Given the description of an element on the screen output the (x, y) to click on. 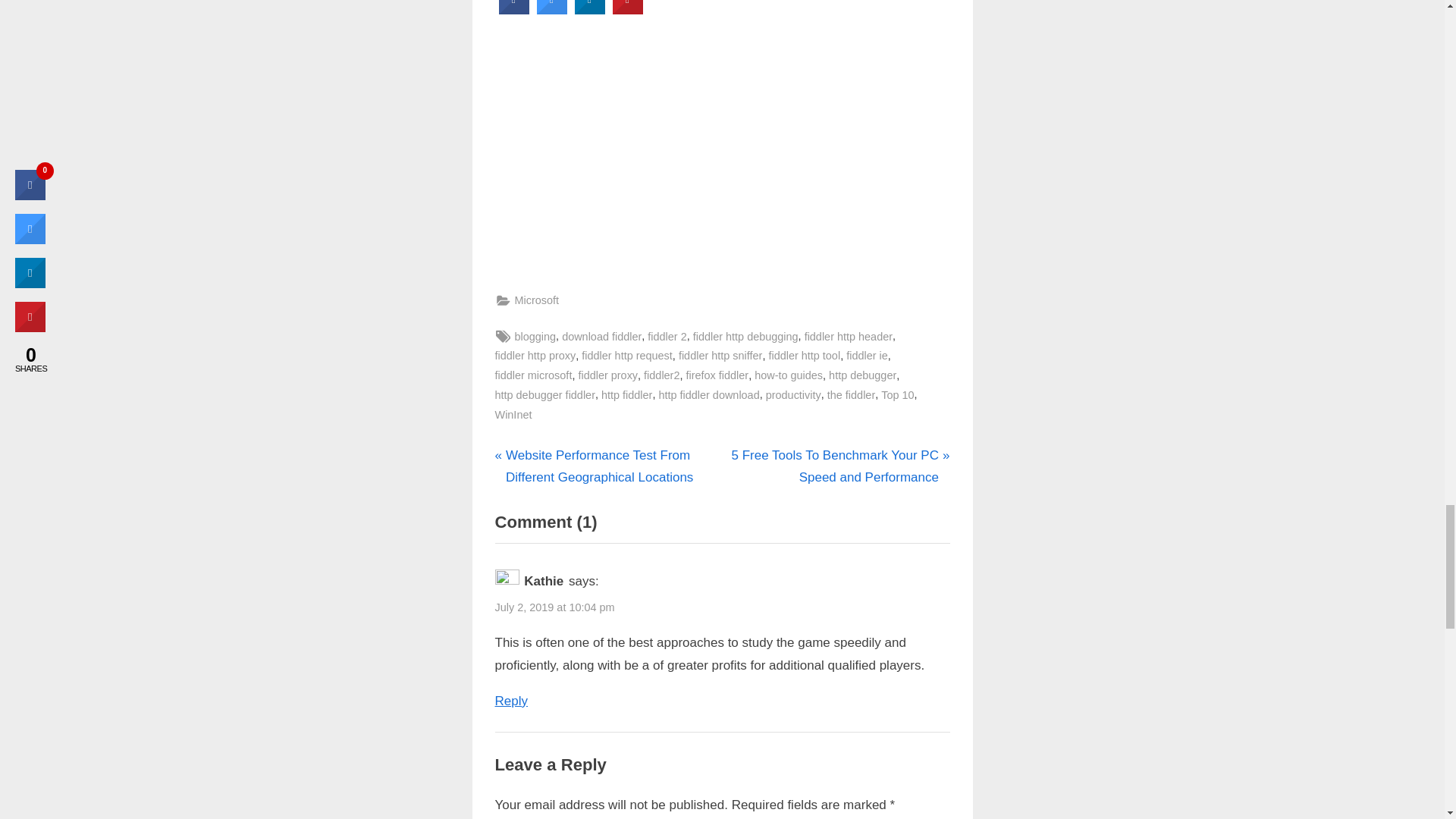
Microsoft (536, 300)
